Given the description of an element on the screen output the (x, y) to click on. 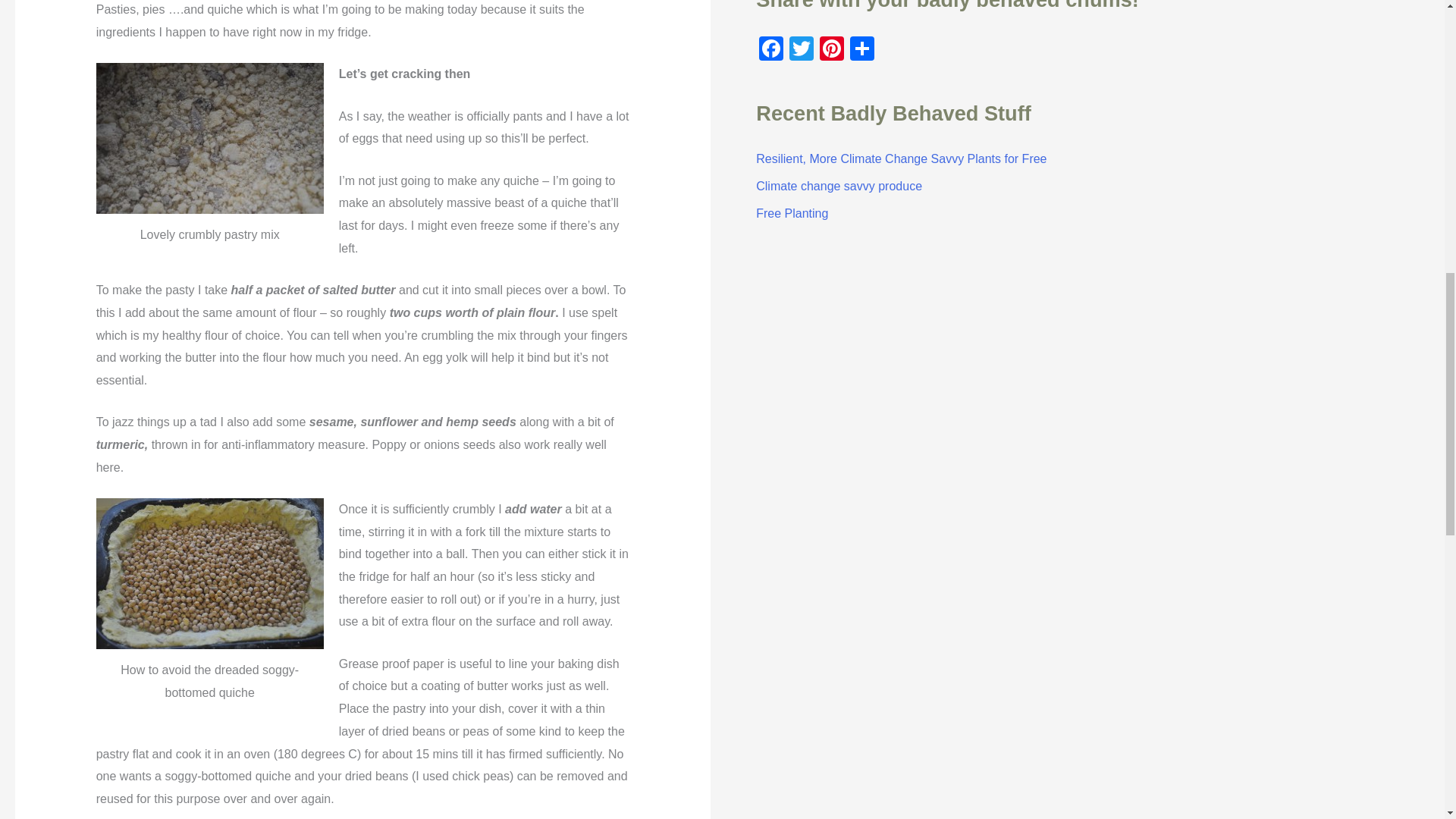
Resilient, More Climate Change Savvy Plants for Free (900, 158)
Twitter (801, 50)
Climate change savvy produce (838, 185)
Facebook (770, 50)
Twitter (801, 50)
Facebook (770, 50)
Free Planting (791, 213)
Pinterest (831, 50)
Pinterest (831, 50)
